Given the description of an element on the screen output the (x, y) to click on. 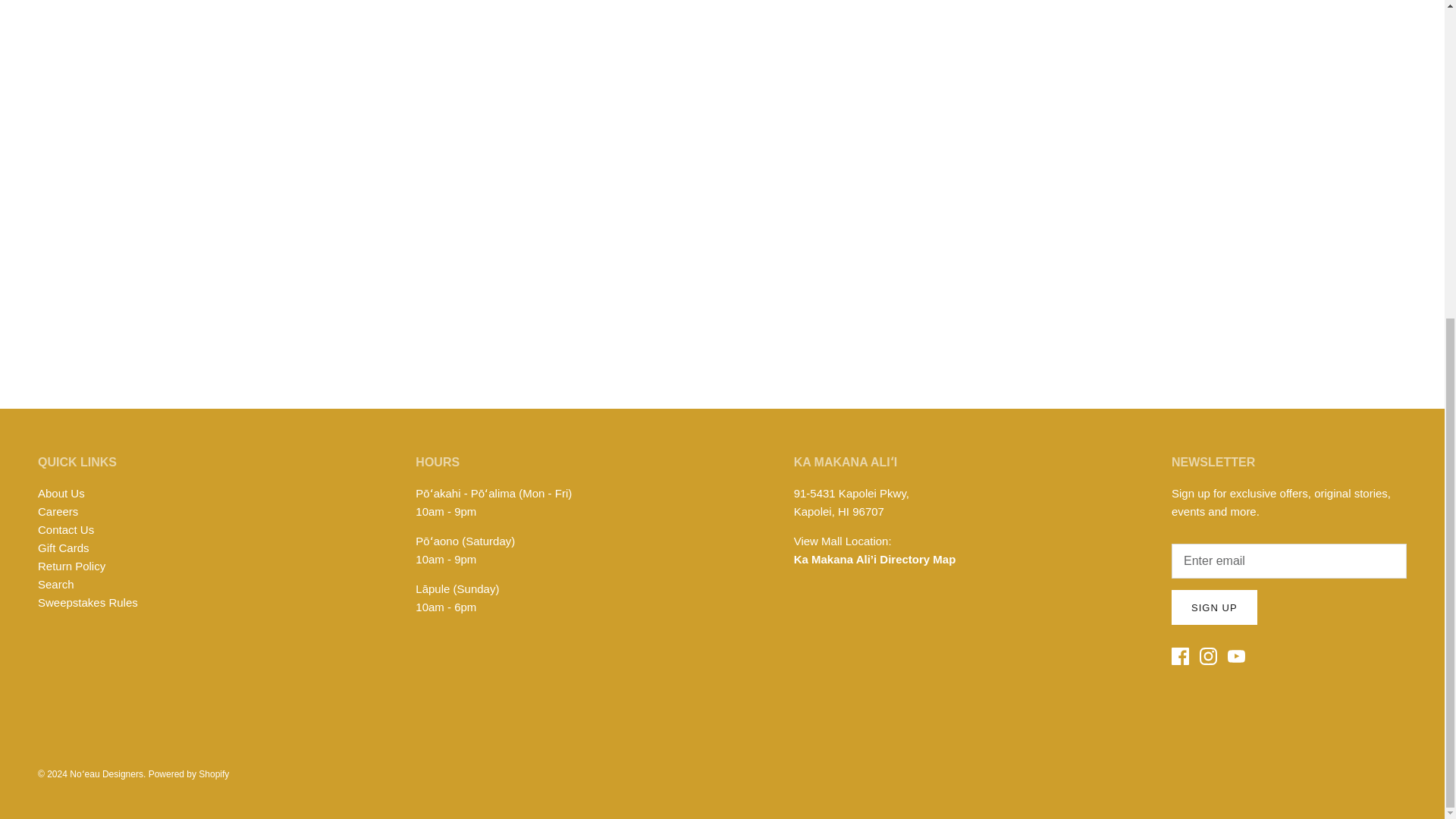
Youtube (1235, 656)
Halloween Sweepstakes Rules (87, 602)
Facebook (1180, 656)
Instagram (1208, 656)
